Given the description of an element on the screen output the (x, y) to click on. 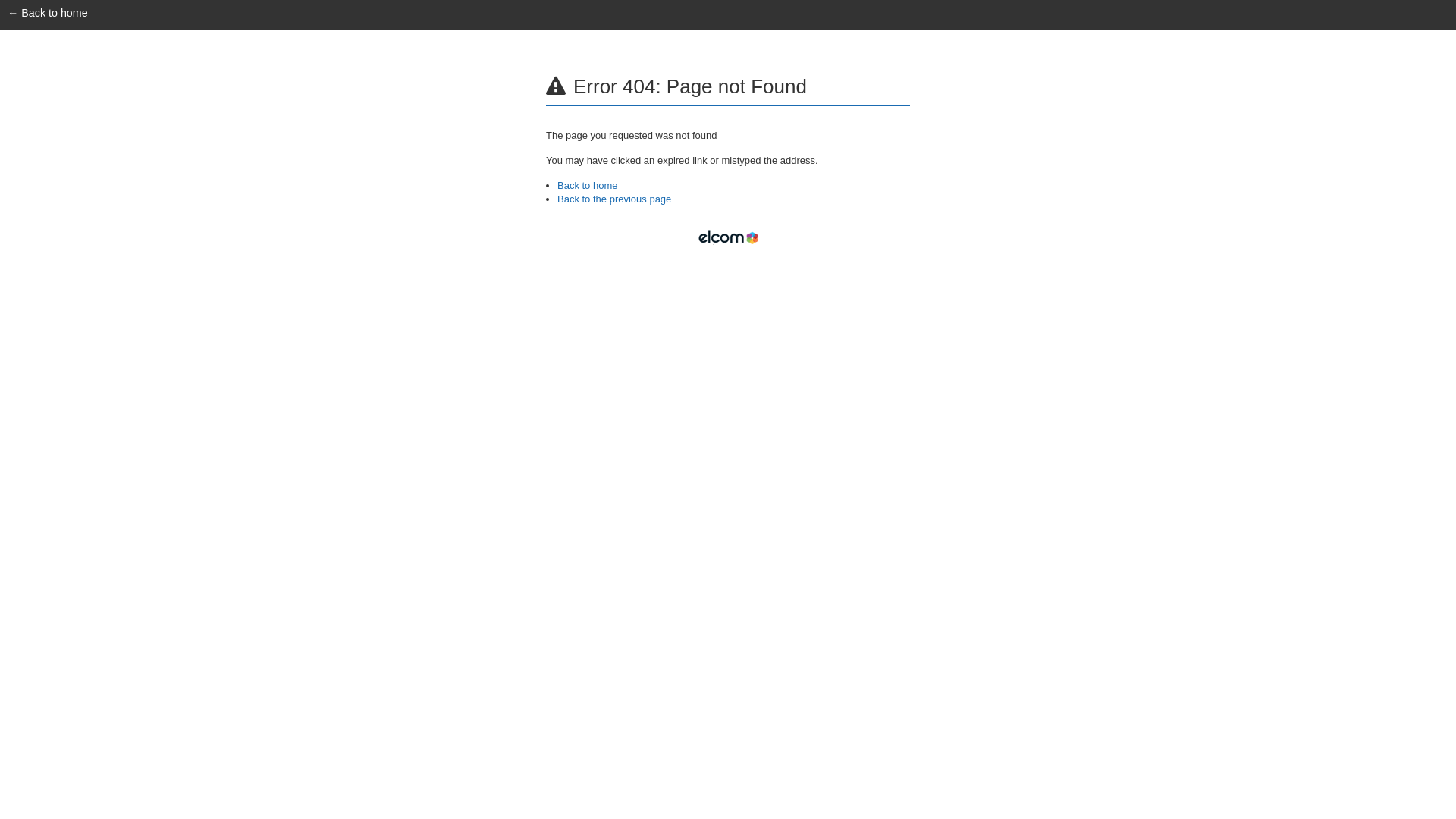
Back to the previous page Element type: text (614, 199)
Back to home Element type: text (587, 185)
